Given the description of an element on the screen output the (x, y) to click on. 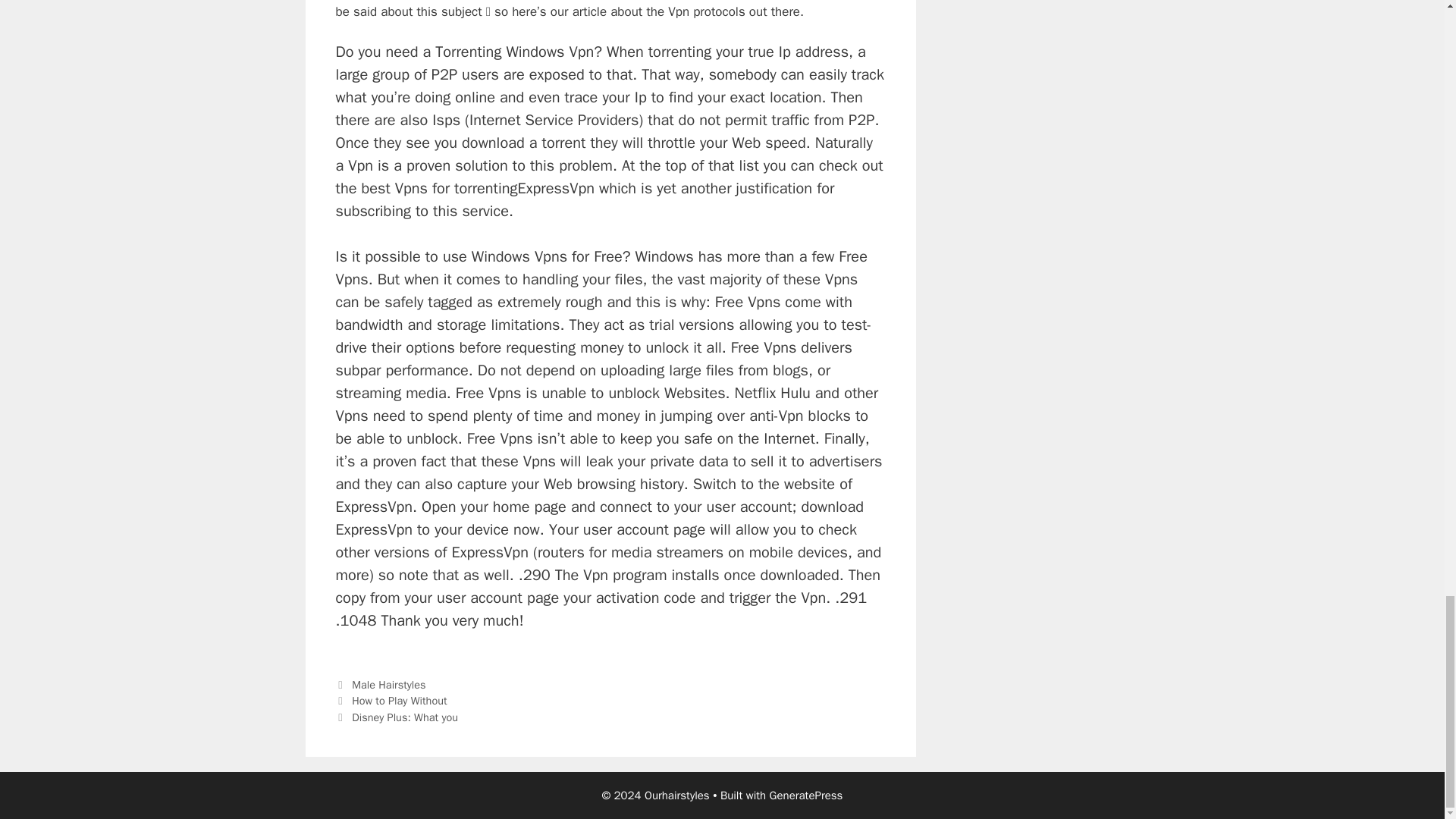
Disney Plus: What you (405, 716)
Male Hairstyles (388, 684)
How to Play Without (399, 700)
